Given the description of an element on the screen output the (x, y) to click on. 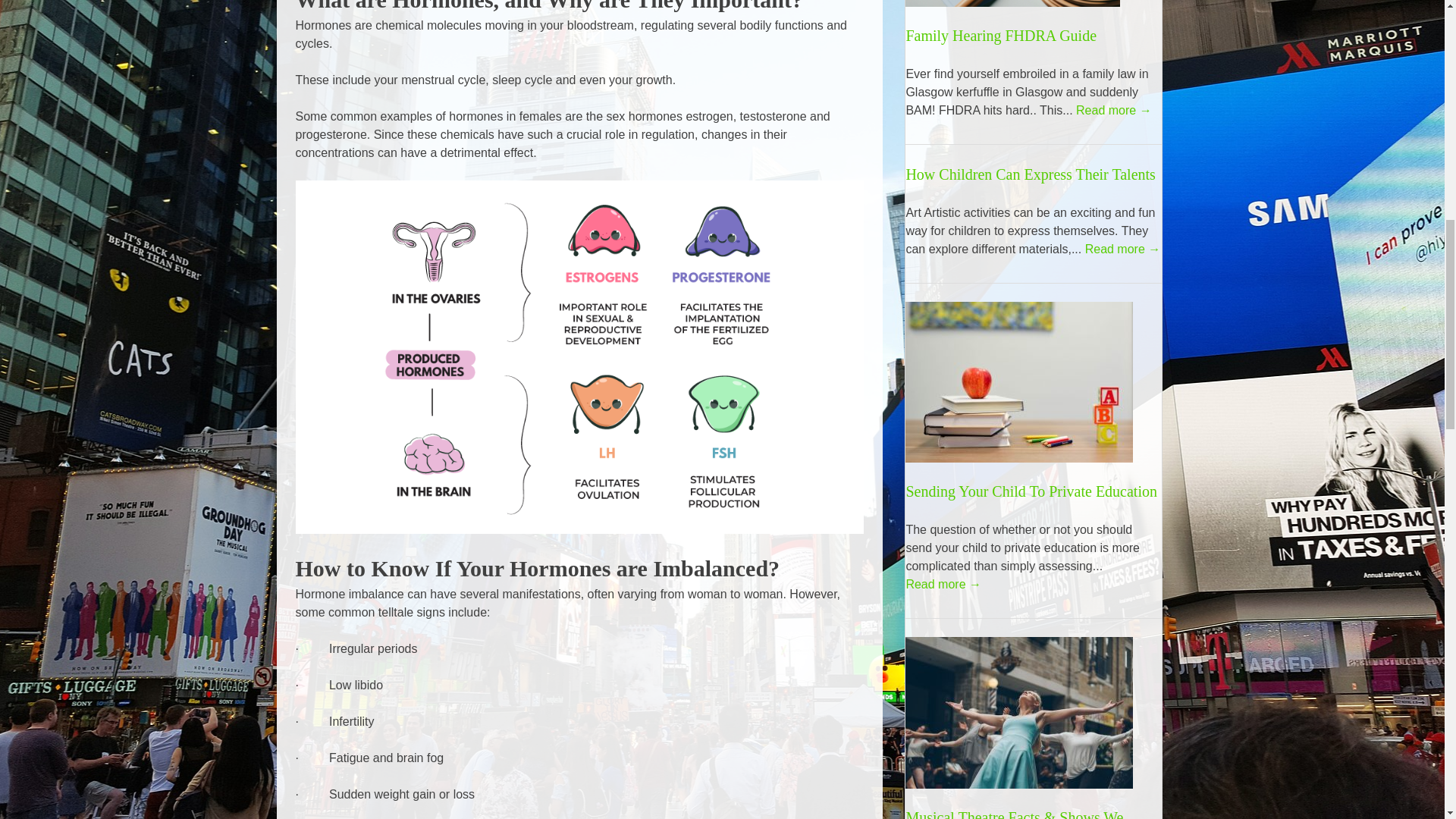
Sending Your Child To Private Education (1031, 491)
Family Hearing FHDRA Guide (1000, 35)
How Children Can Express Their Talents (1029, 174)
